Given the description of an element on the screen output the (x, y) to click on. 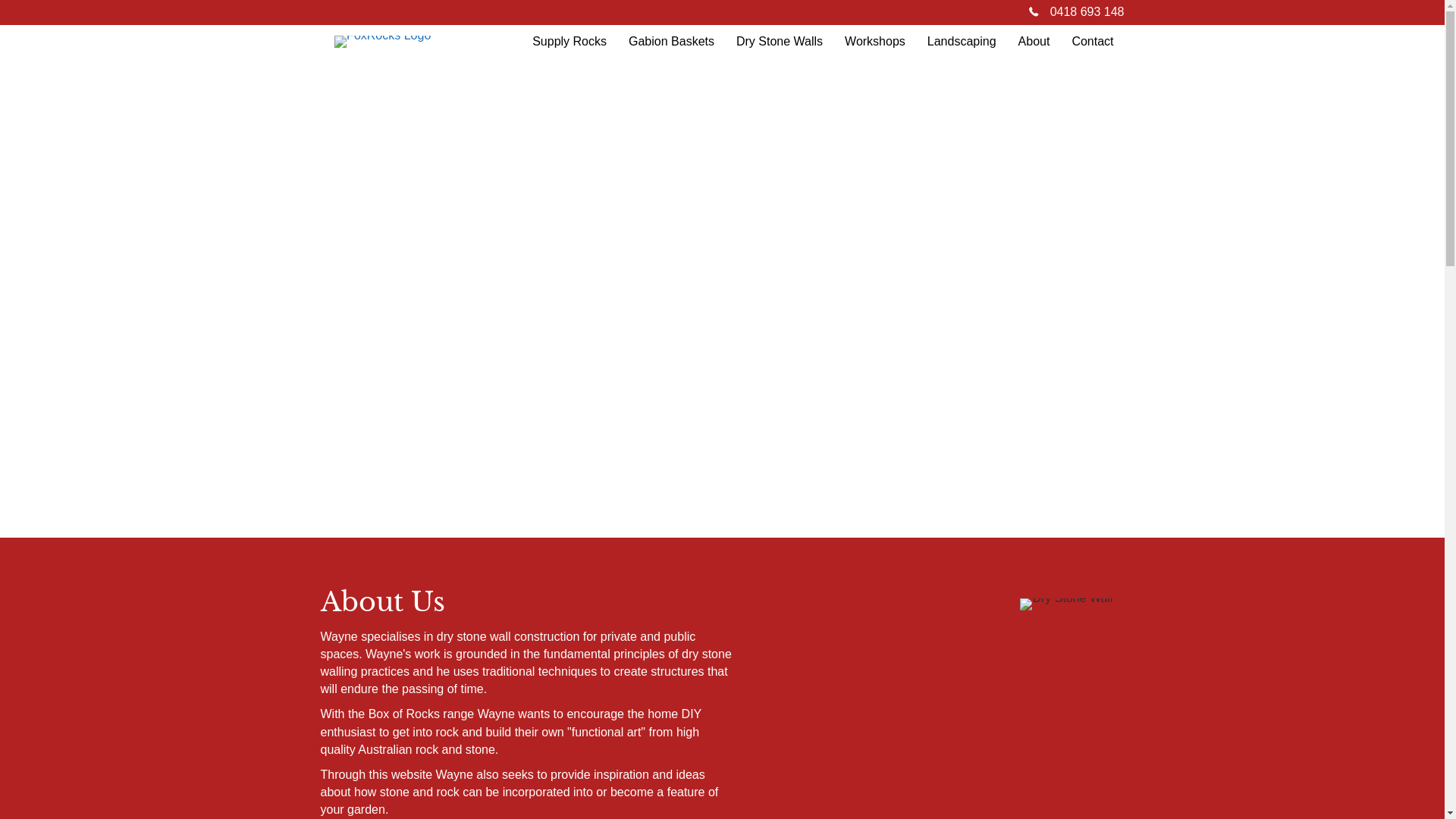
Contact Element type: text (1091, 41)
About Element type: text (1033, 41)
0418 693 148 Element type: text (1087, 11)
Dry Stone Walls Element type: text (779, 41)
Gabion Baskets Element type: text (671, 41)
Landscaping Element type: text (961, 41)
Workshops Element type: text (875, 41)
Dry Stone Wall Element type: hover (1065, 604)
FoxRocks Logo Element type: hover (382, 41)
Supply Rocks Element type: text (569, 41)
